Given the description of an element on the screen output the (x, y) to click on. 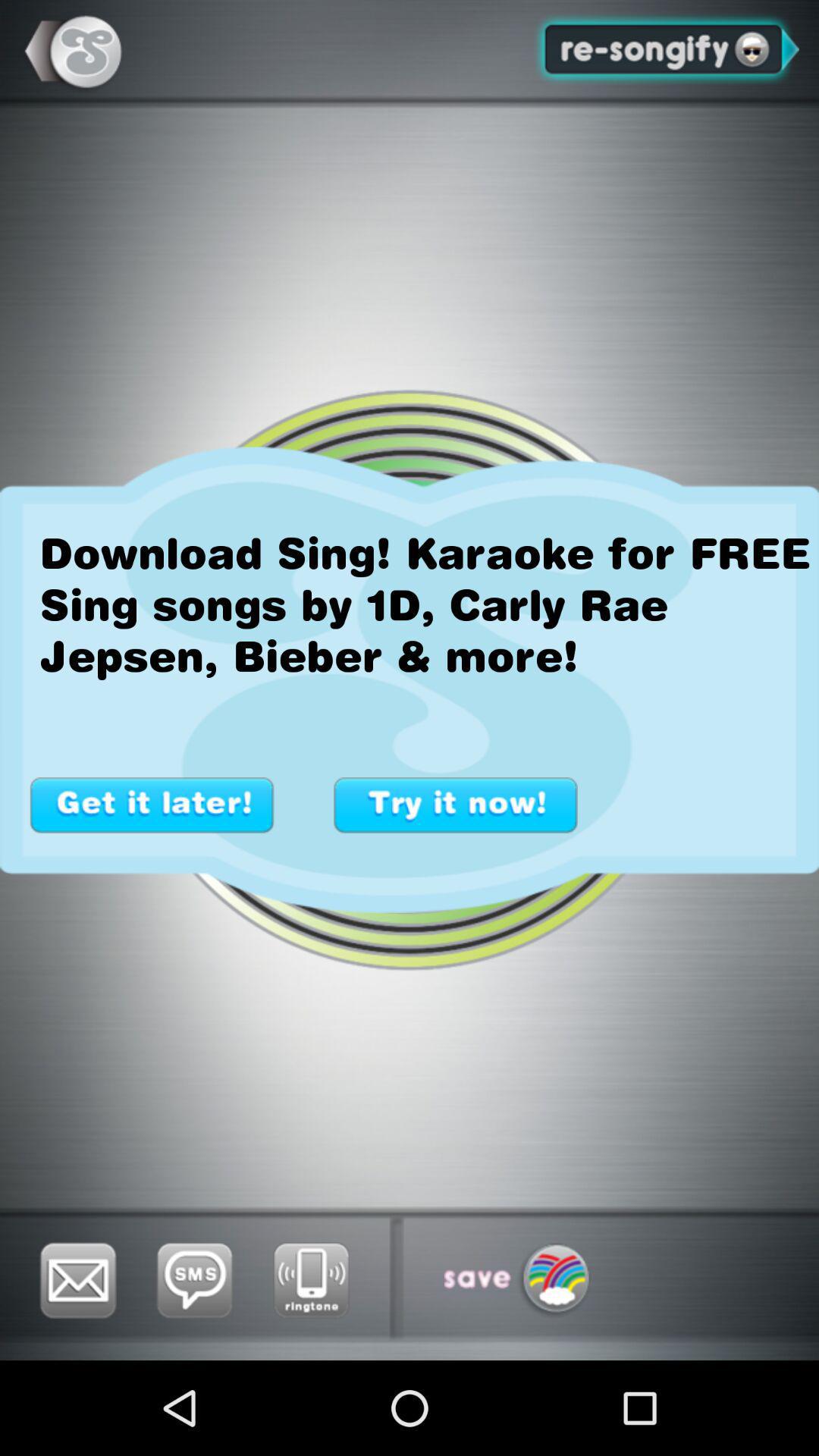
switch to get it later button (152, 805)
